Given the description of an element on the screen output the (x, y) to click on. 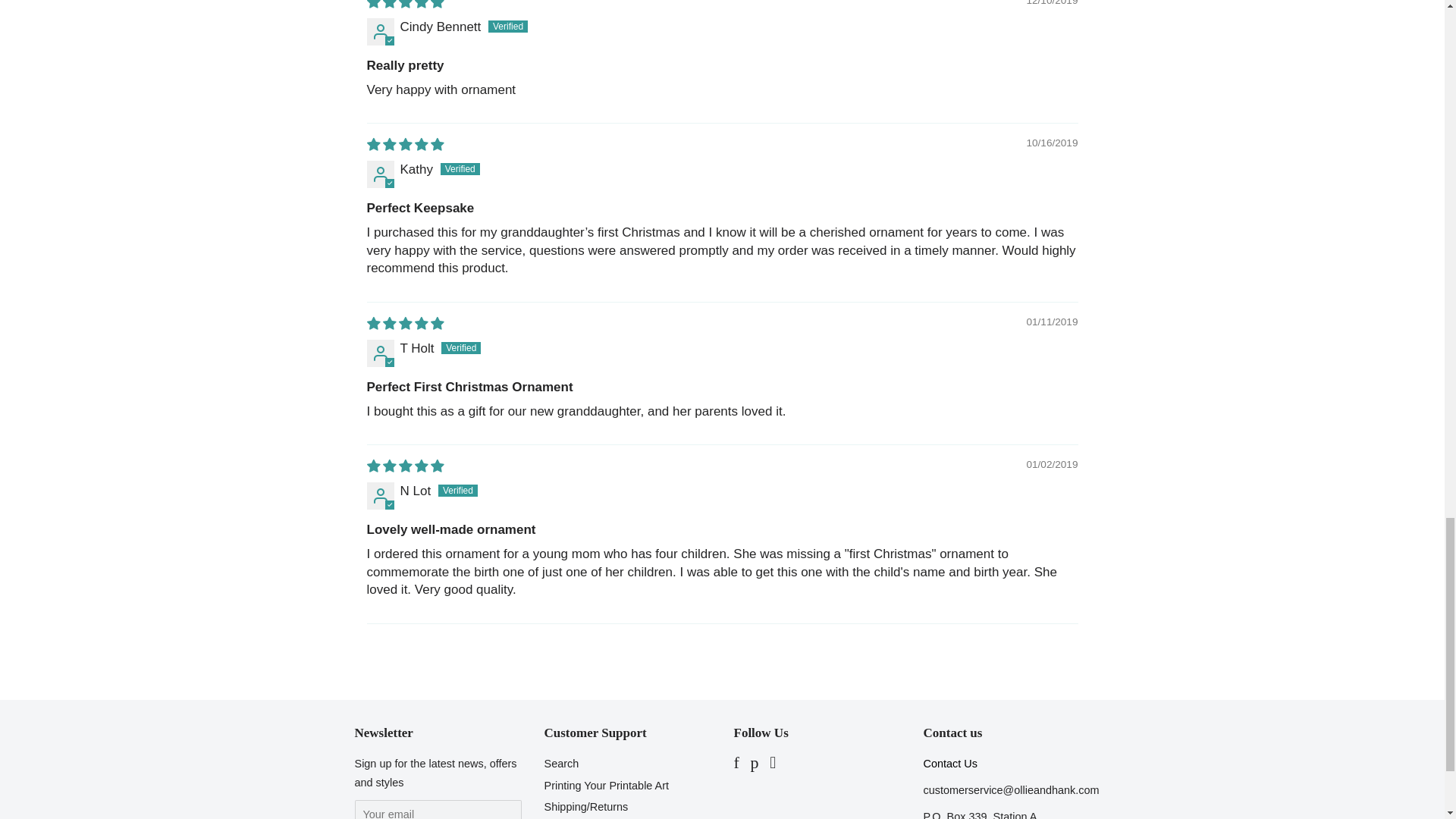
Contact (949, 763)
